Given the description of an element on the screen output the (x, y) to click on. 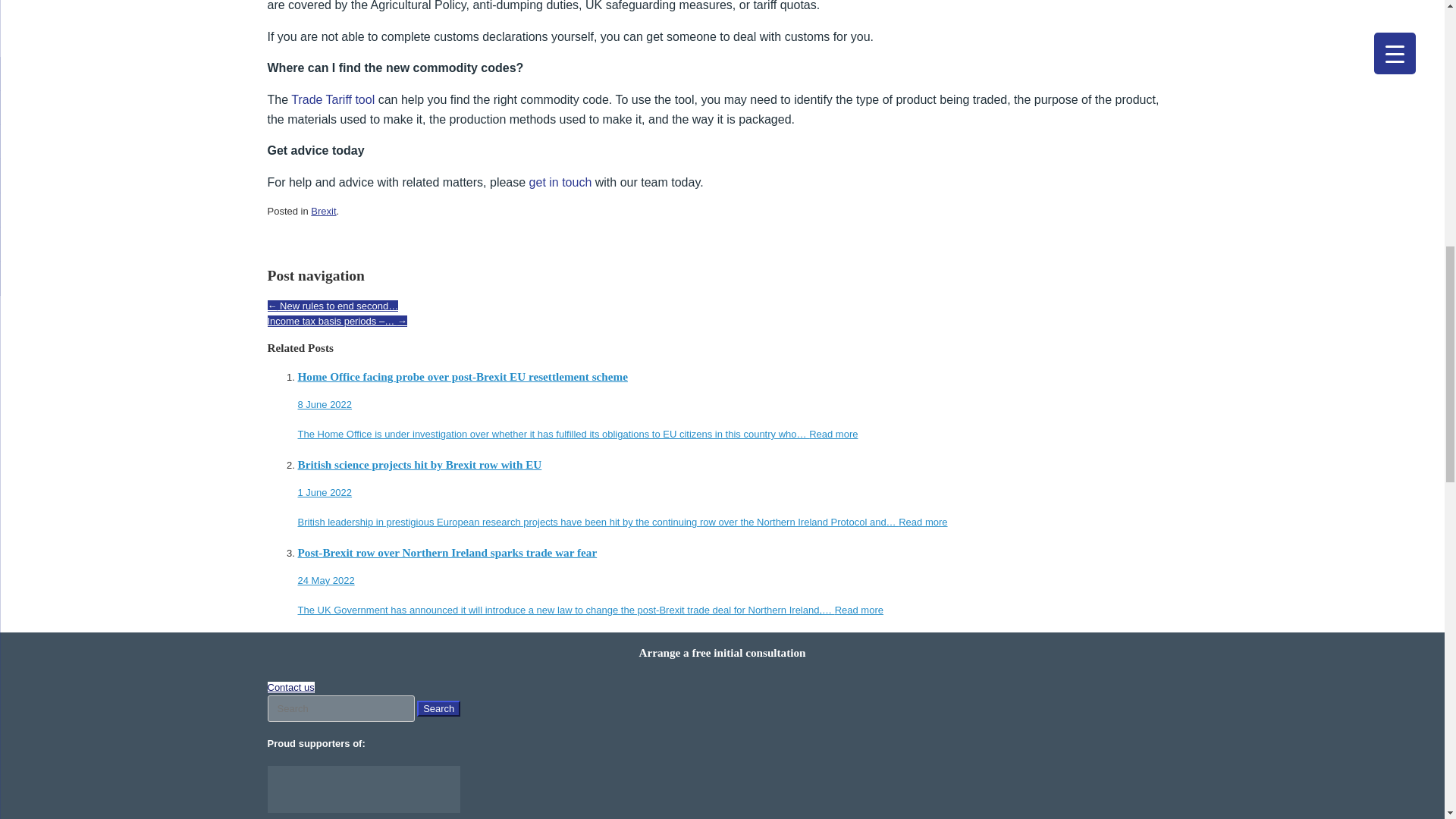
British science projects hit by Brexit row with EU (597, 521)
British science projects hit by Brexit row with EU (736, 478)
Search (438, 708)
